Given the description of an element on the screen output the (x, y) to click on. 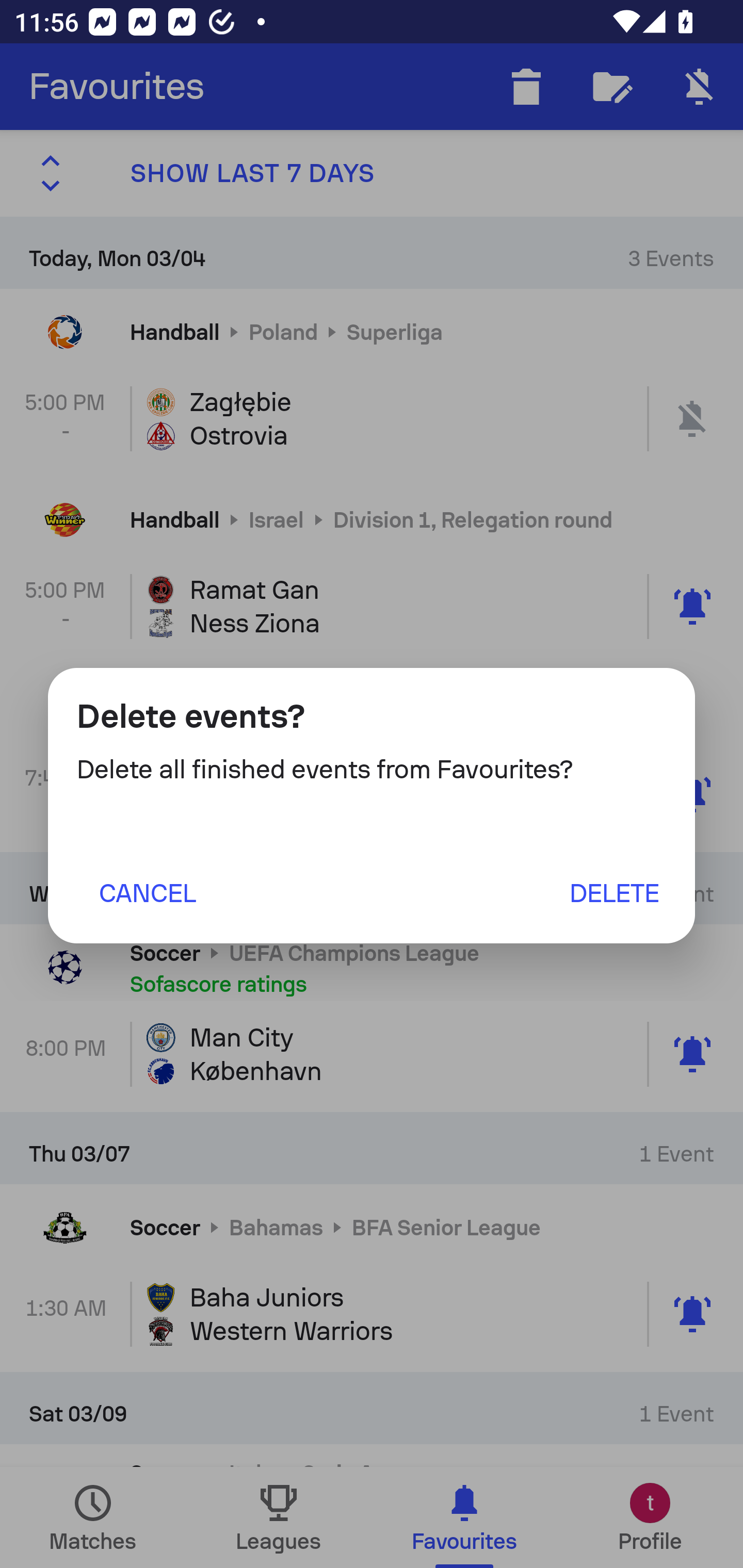
CANCEL (146, 892)
DELETE (614, 892)
